Given the description of an element on the screen output the (x, y) to click on. 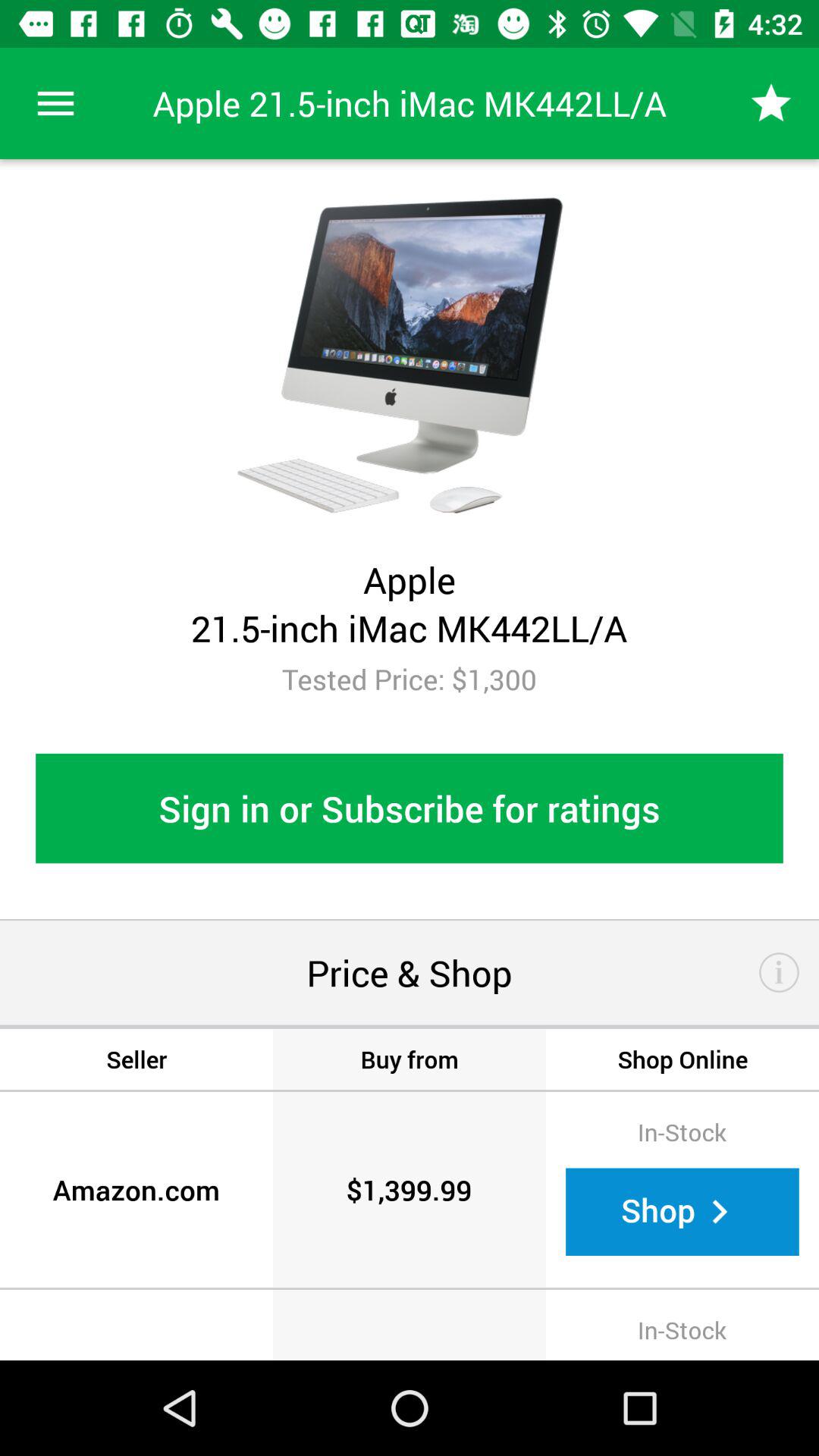
turn on the item below sign in or (779, 972)
